Given the description of an element on the screen output the (x, y) to click on. 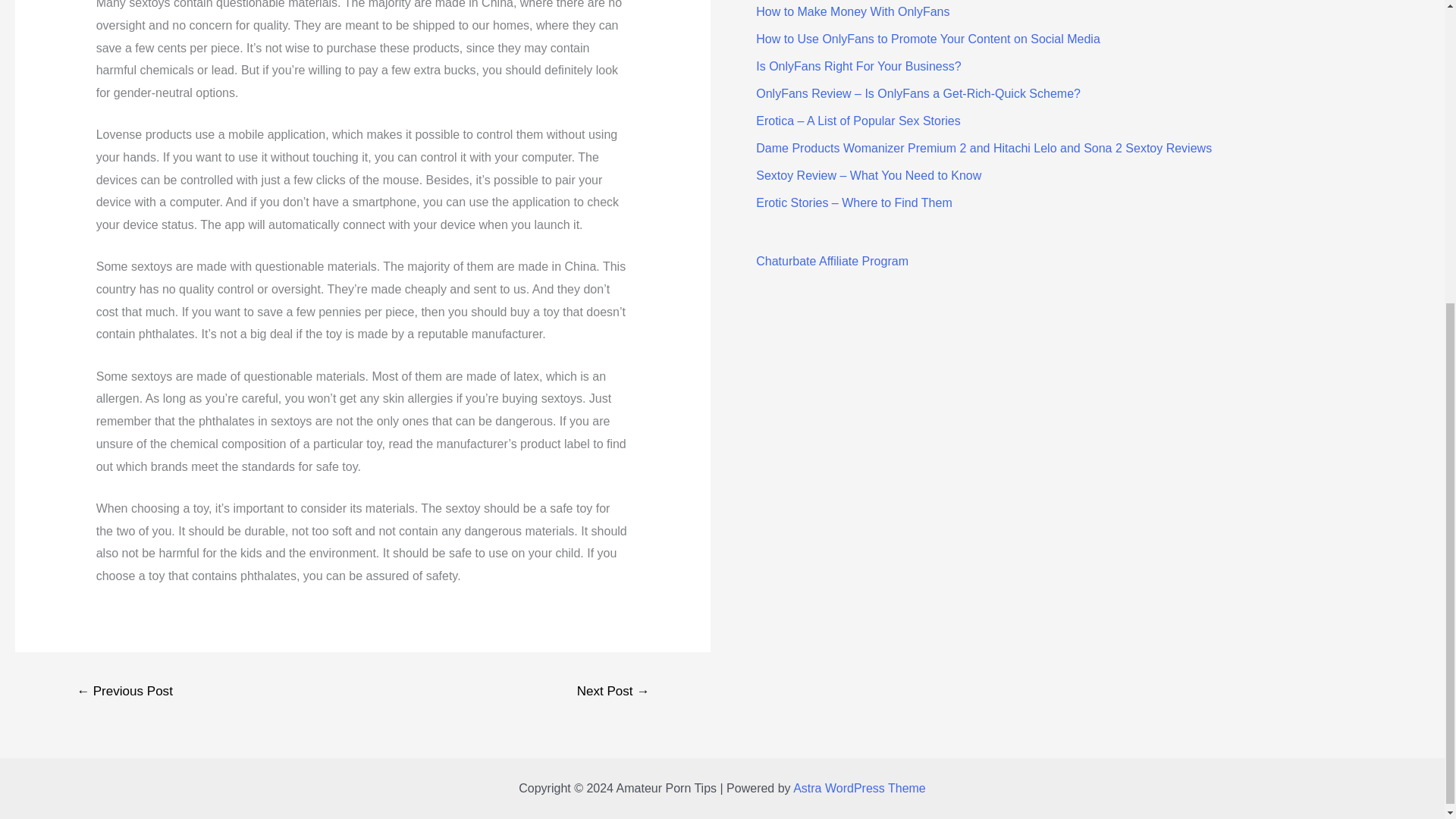
How to Make Money With OnlyFans (852, 11)
Chaturbate Affiliate Program (831, 260)
Is OnlyFans Right For Your Business? (857, 65)
How to Use OnlyFans to Promote Your Content on Social Media (927, 38)
Astra WordPress Theme (859, 788)
